Given the description of an element on the screen output the (x, y) to click on. 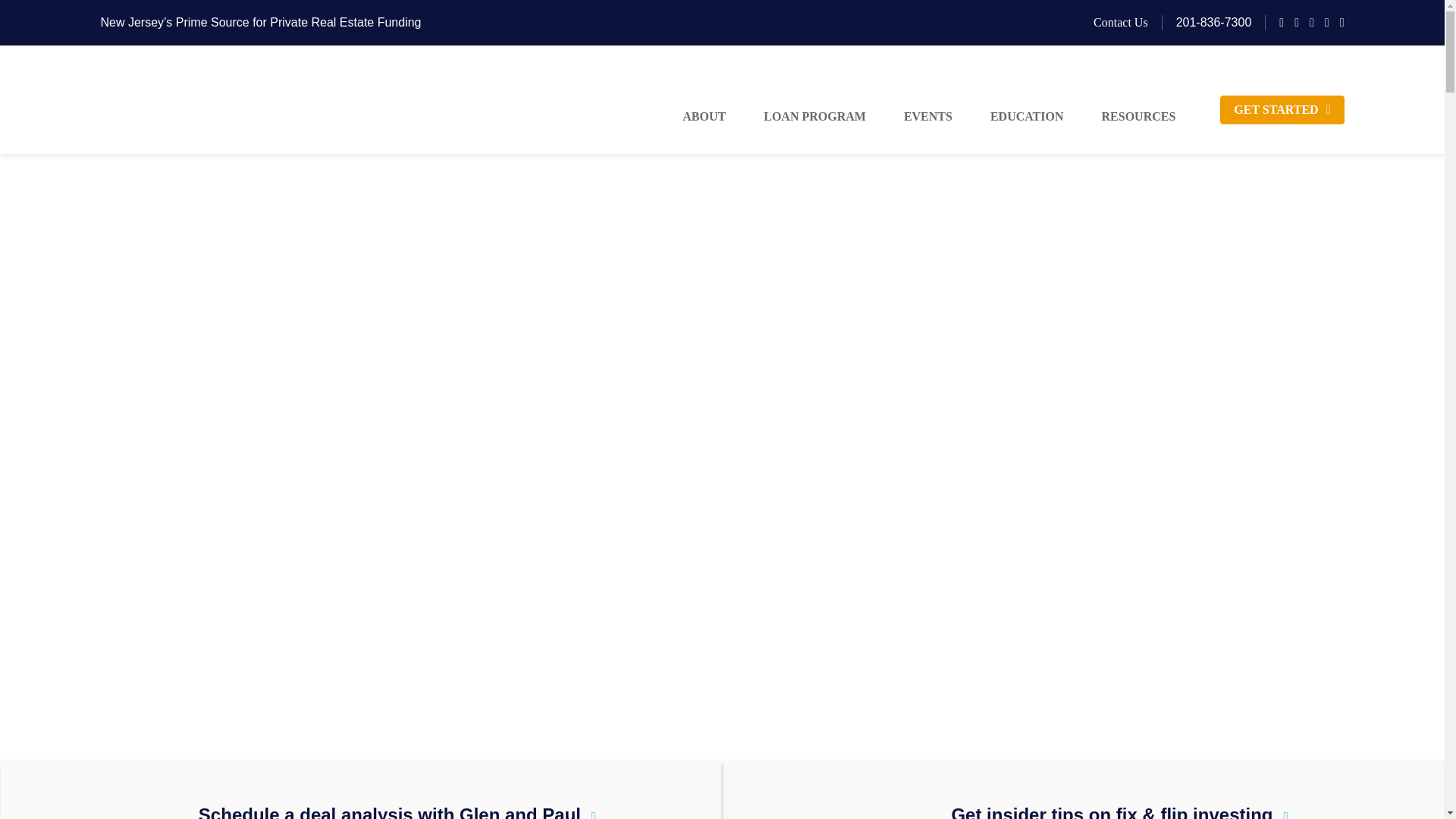
LOAN PROGRAM (814, 116)
icon-phone-hexagon (154, 804)
icon-lightbulb-hexagon (906, 804)
EVENTS (928, 116)
LinkedIn (1327, 22)
RESOURCES (1145, 116)
Twitter (1296, 22)
EDUCATION (1027, 116)
GET STARTED (1281, 109)
Instagram (1311, 22)
Contact Us (1120, 21)
ABOUT (703, 116)
